Given the description of an element on the screen output the (x, y) to click on. 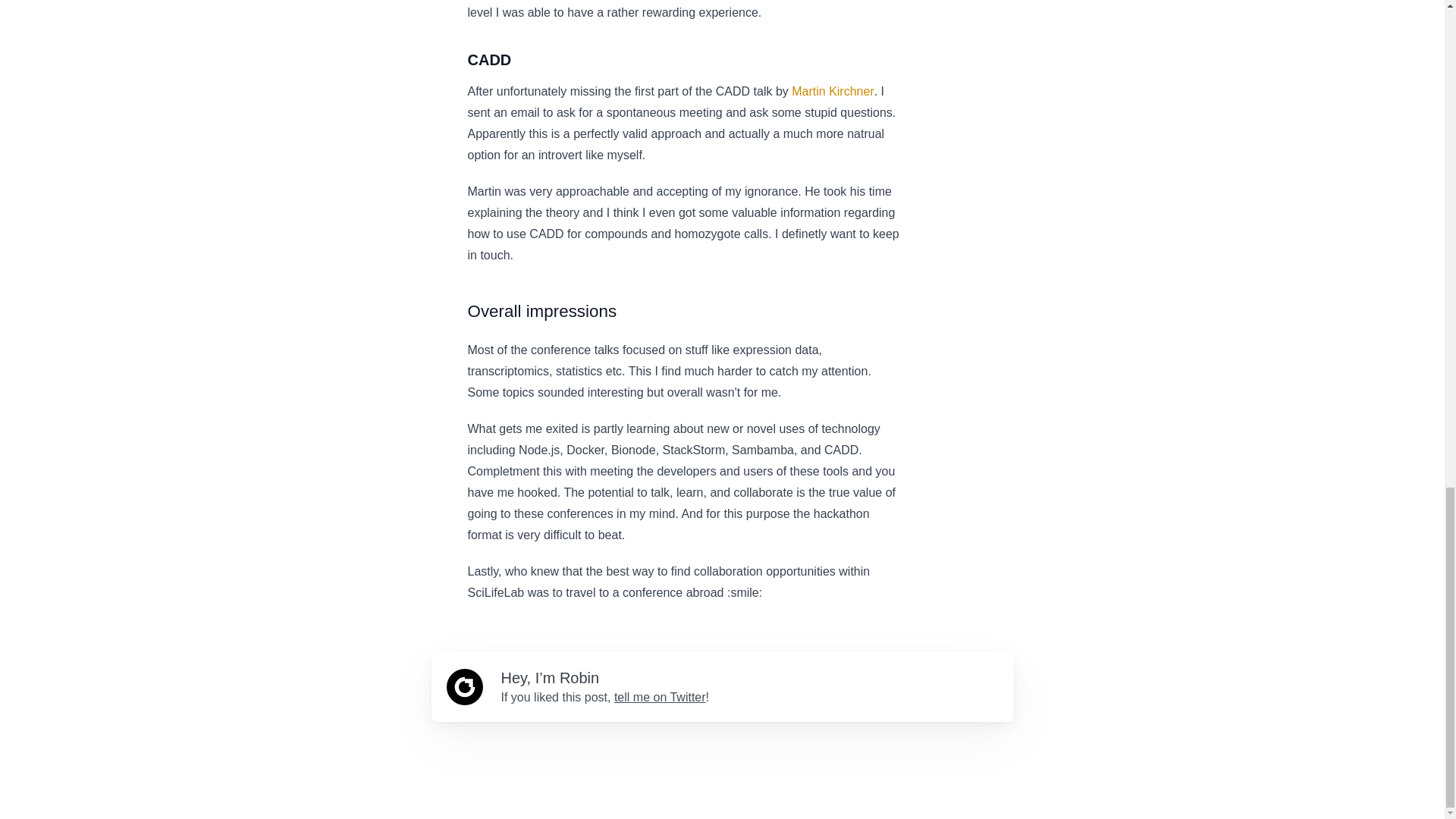
tell me on Twitter (660, 697)
Martin Kirchner (832, 91)
